Given the description of an element on the screen output the (x, y) to click on. 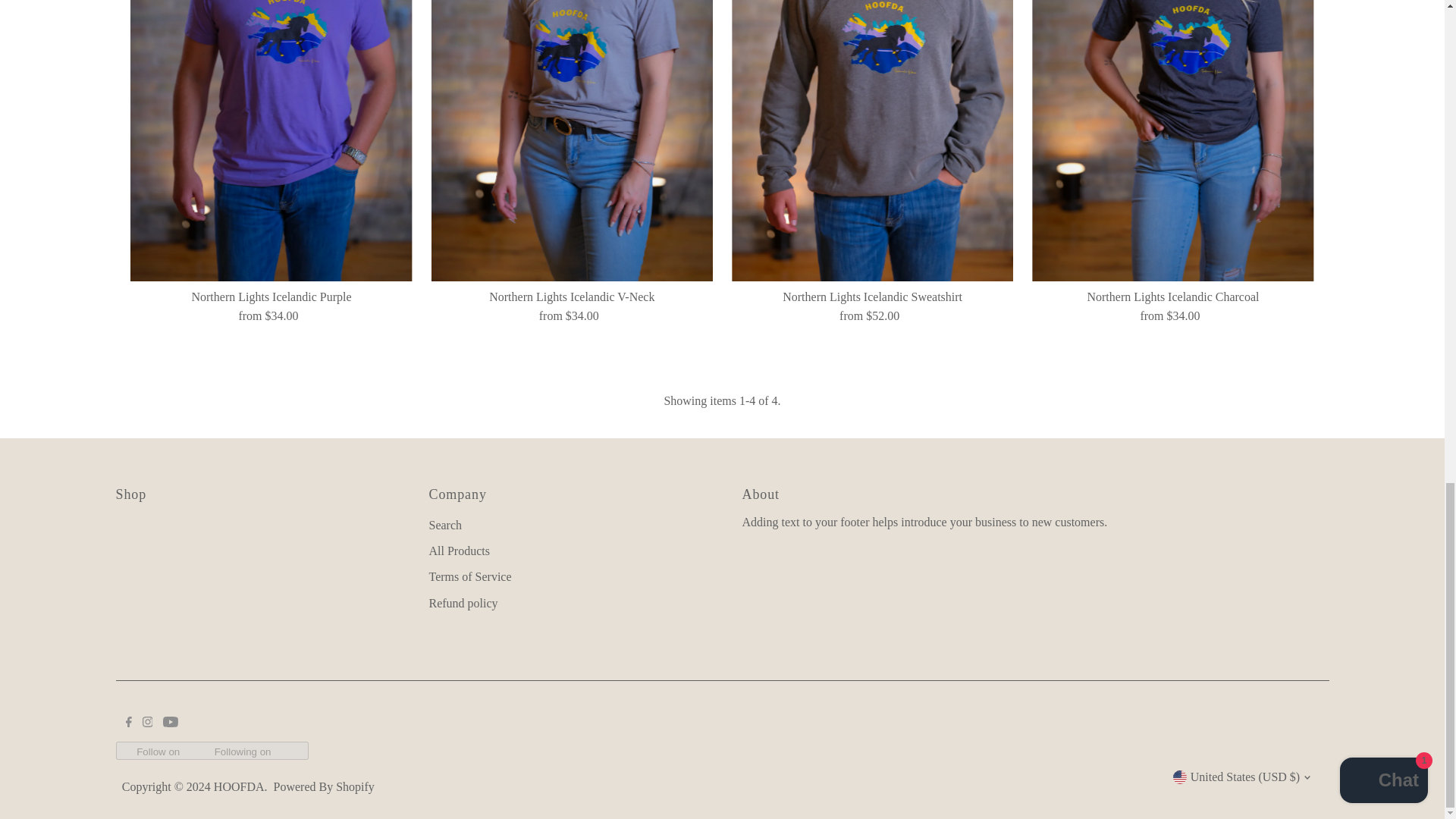
Northern Lights Icelandic Sweatshirt (872, 140)
Northern Lights Icelandic Purple (271, 140)
Northern Lights Icelandic V-Neck (571, 140)
